Given the description of an element on the screen output the (x, y) to click on. 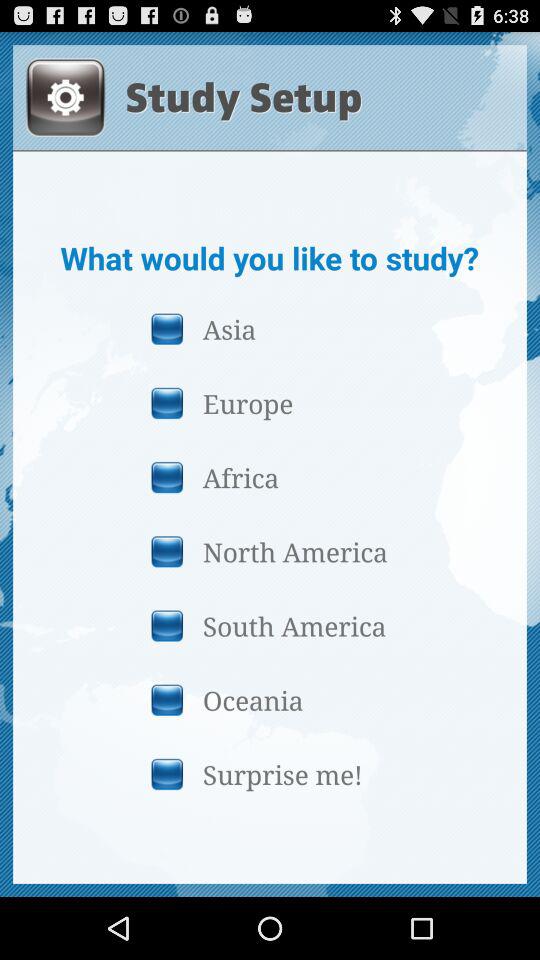
tap the button above the africa (269, 402)
